Given the description of an element on the screen output the (x, y) to click on. 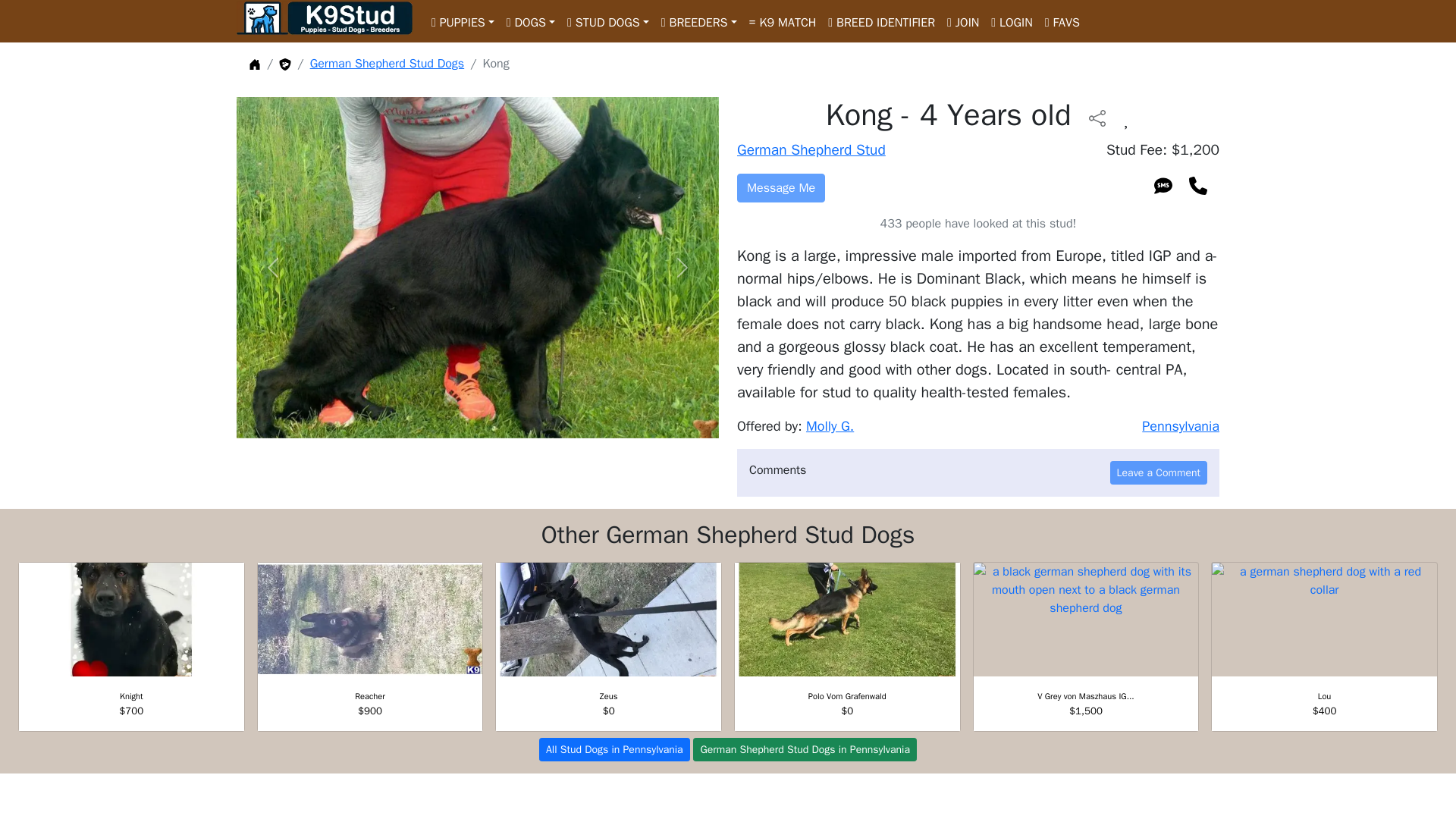
German Shepherd Stud (810, 149)
German Shepherd Stud Dogs (387, 63)
Pennsylvania (1180, 425)
Message Me (780, 187)
BREEDERS (698, 20)
PUPPIES (462, 20)
Leave a Comment (1158, 472)
Share (1097, 117)
Message Me (780, 187)
FAVS (1062, 20)
